Given the description of an element on the screen output the (x, y) to click on. 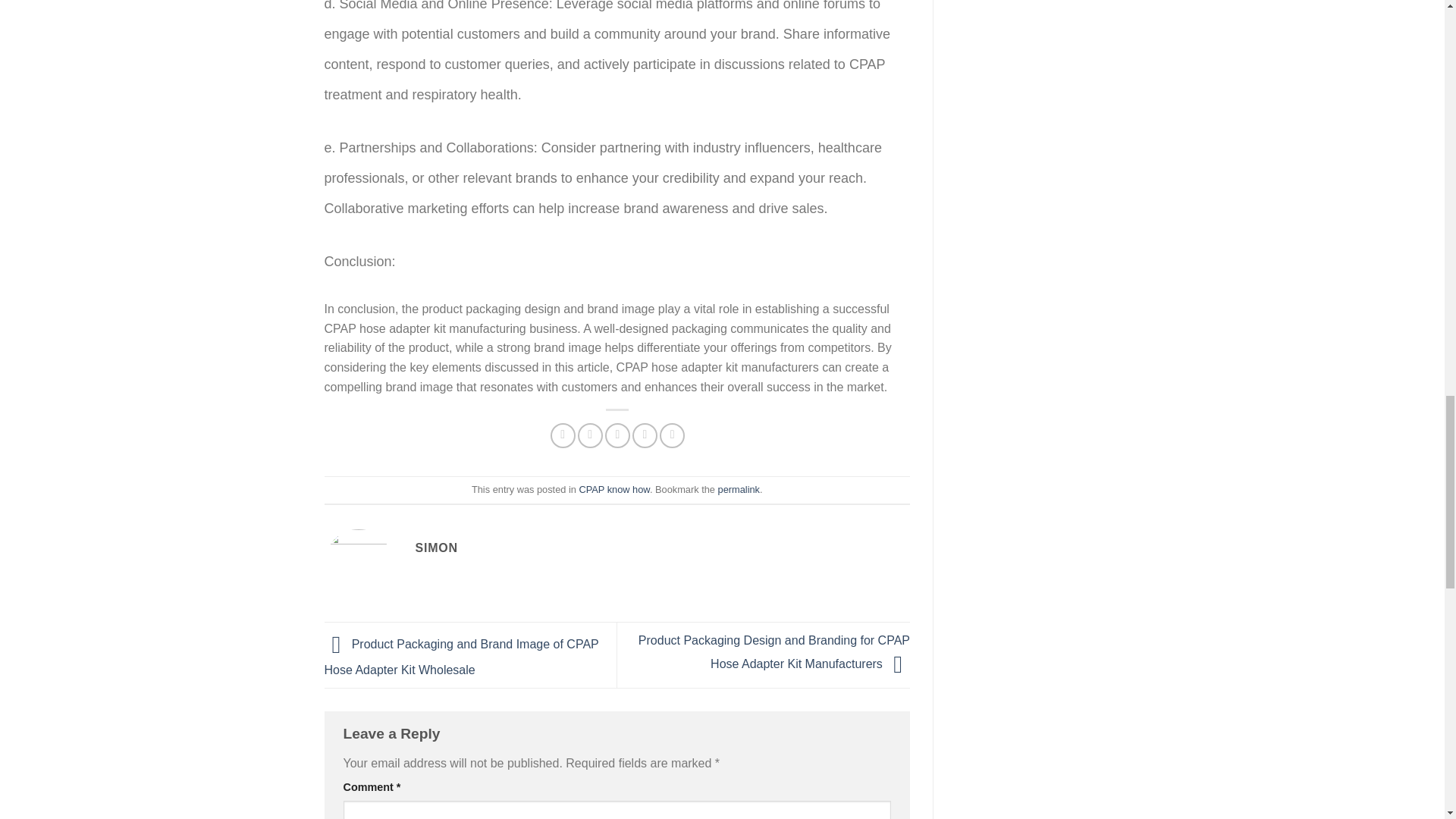
CPAP know how (613, 489)
permalink (738, 489)
